Given the description of an element on the screen output the (x, y) to click on. 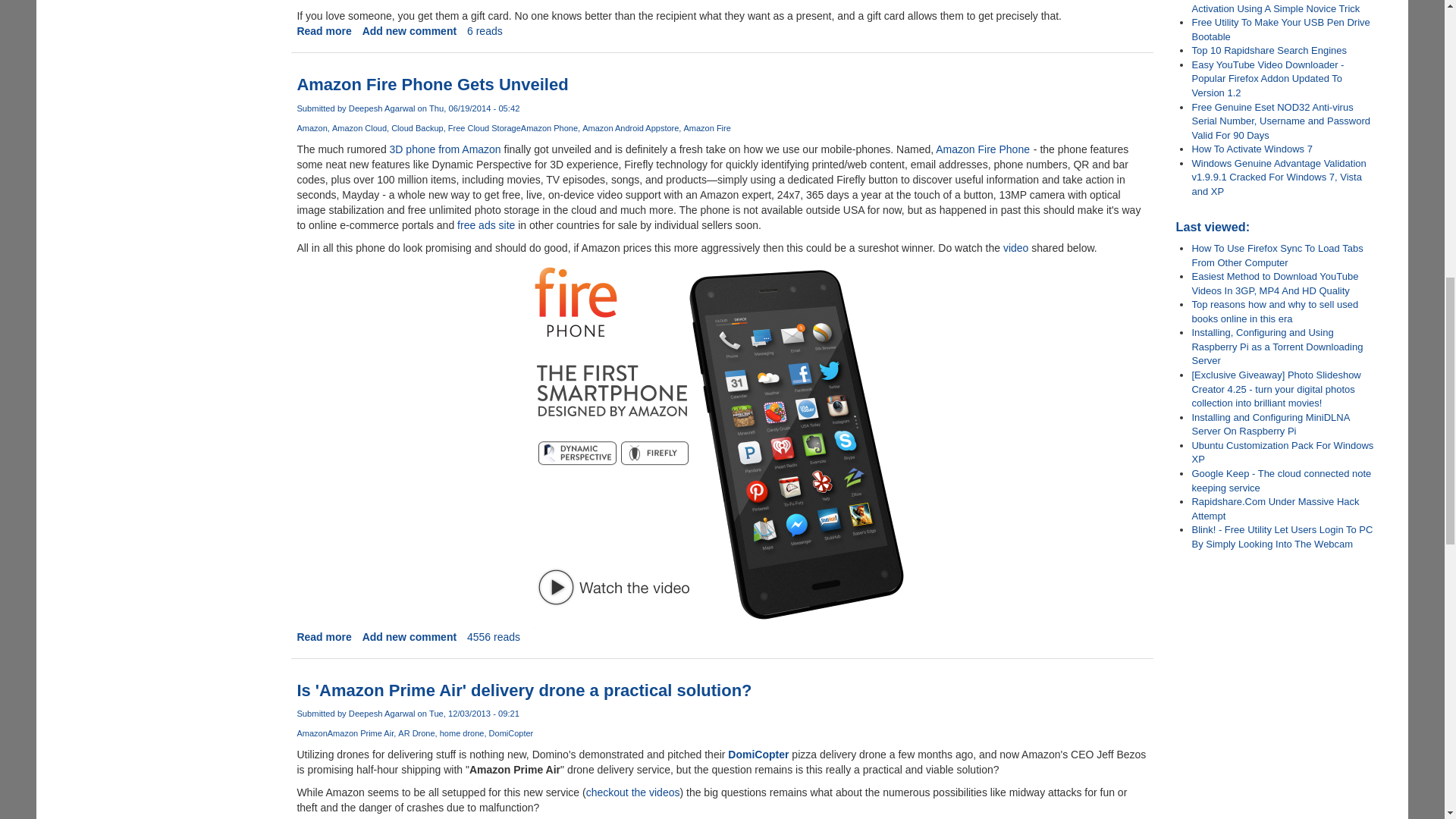
Cloud Backup (419, 127)
Free Cloud Storage (484, 127)
Amazon (314, 127)
Amazon Fire Phone (982, 149)
Amazon Cloud (361, 127)
Amazon Android Appstore (632, 127)
Amazon Fire Phone Gets Unveiled (432, 84)
3D phone from Amazon (445, 149)
Deepesh Agarwal (381, 108)
Amazon Fire (706, 127)
Why is the Gamers Greeting Amazon Gift Card so Popular? (323, 30)
Add new comment (409, 30)
Amazon Phone (551, 127)
